Given the description of an element on the screen output the (x, y) to click on. 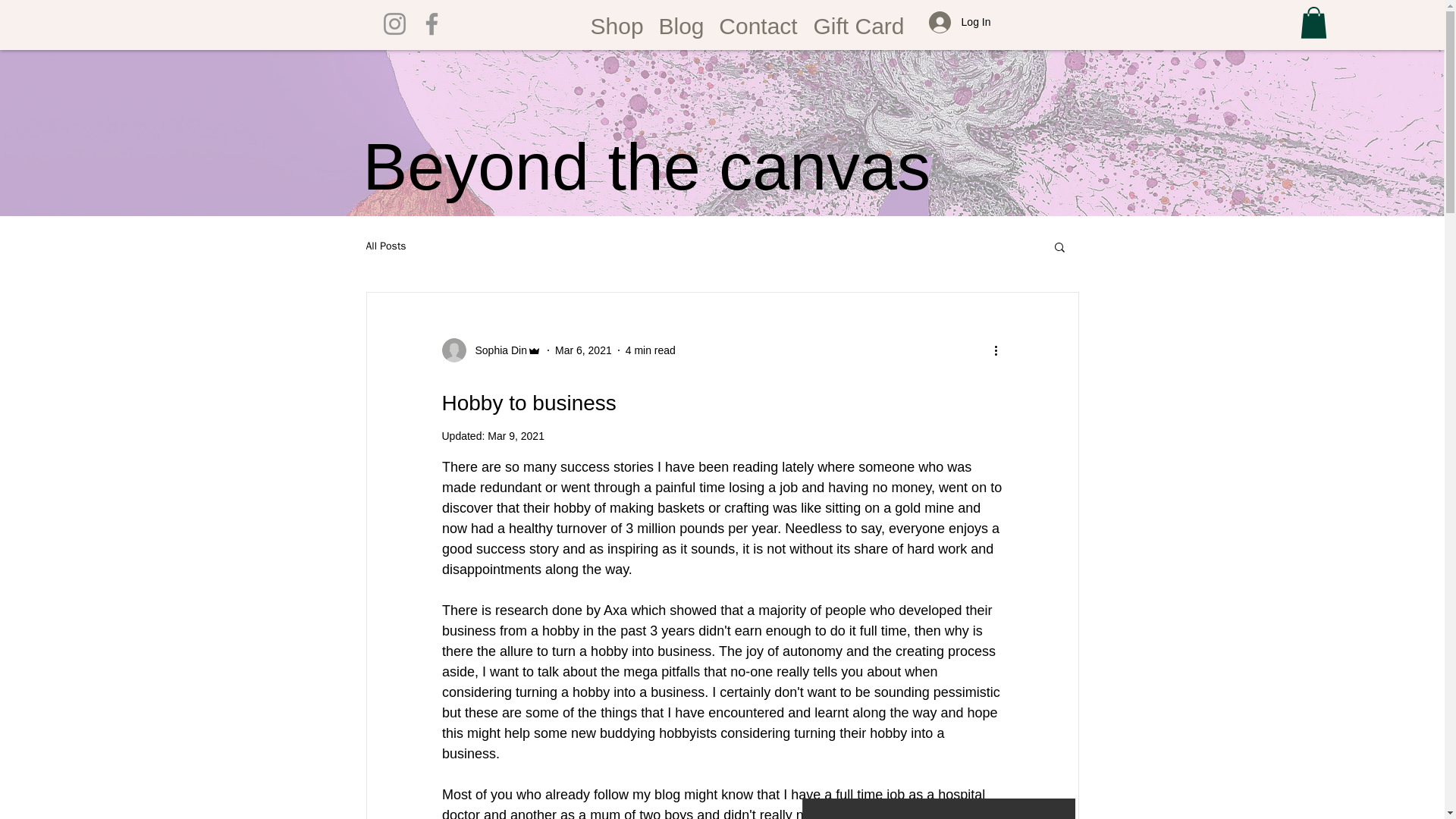
All Posts (385, 246)
Shop (616, 21)
Mar 9, 2021 (515, 435)
Blog (680, 21)
Sophia Din (496, 350)
Gift Card (858, 21)
Log In (959, 21)
Mar 6, 2021 (582, 349)
4 min read (650, 349)
Contact (758, 21)
Sophia Din (491, 350)
